Given the description of an element on the screen output the (x, y) to click on. 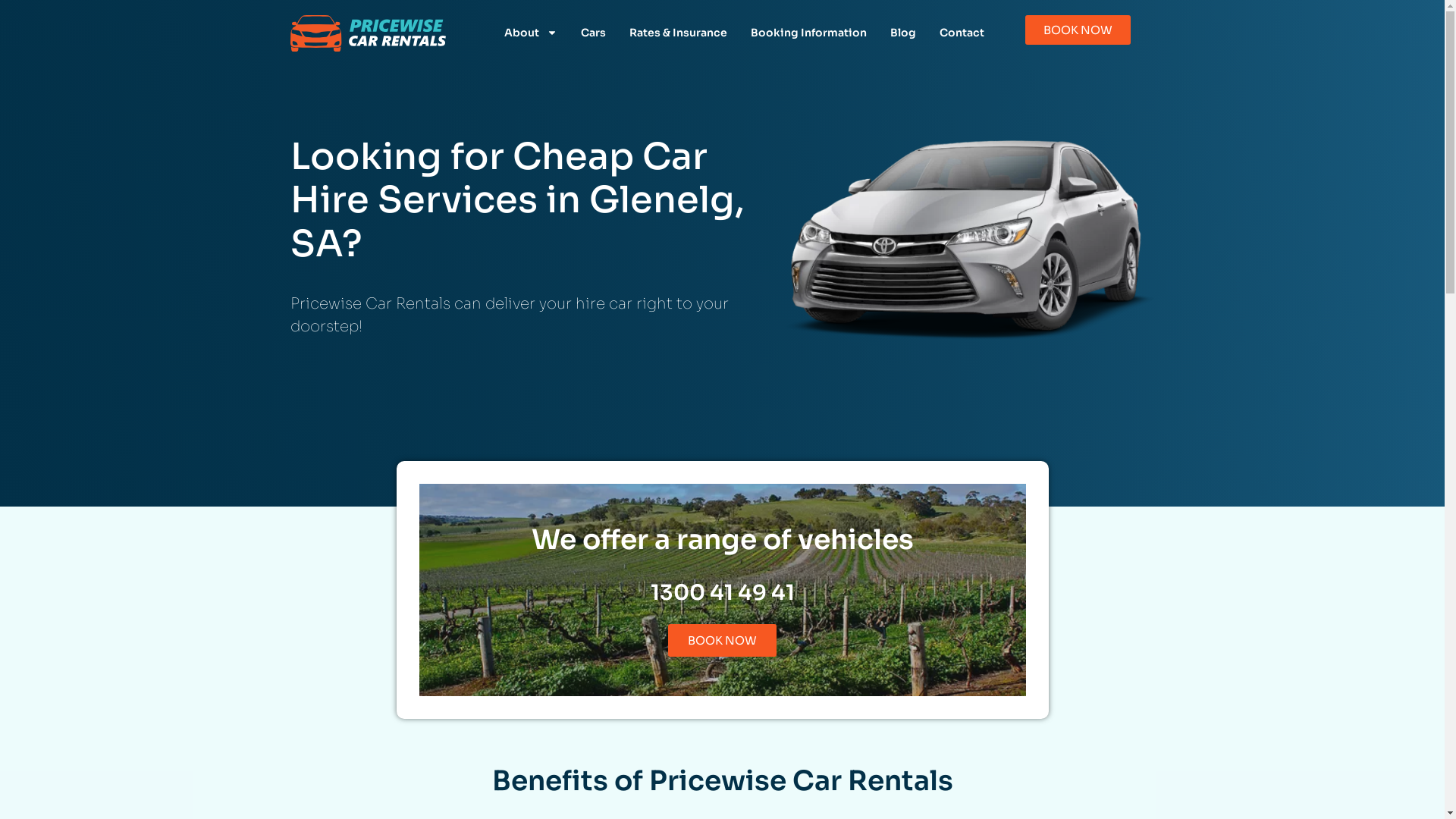
Booking Information Element type: text (807, 32)
Cars Element type: text (592, 32)
About Element type: text (530, 32)
BOOK NOW Element type: text (1077, 29)
Contact Element type: text (961, 32)
Rates & Insurance Element type: text (677, 32)
1300 41 49 41 Element type: text (722, 592)
Blog Element type: text (902, 32)
BOOK NOW Element type: text (722, 640)
